Given the description of an element on the screen output the (x, y) to click on. 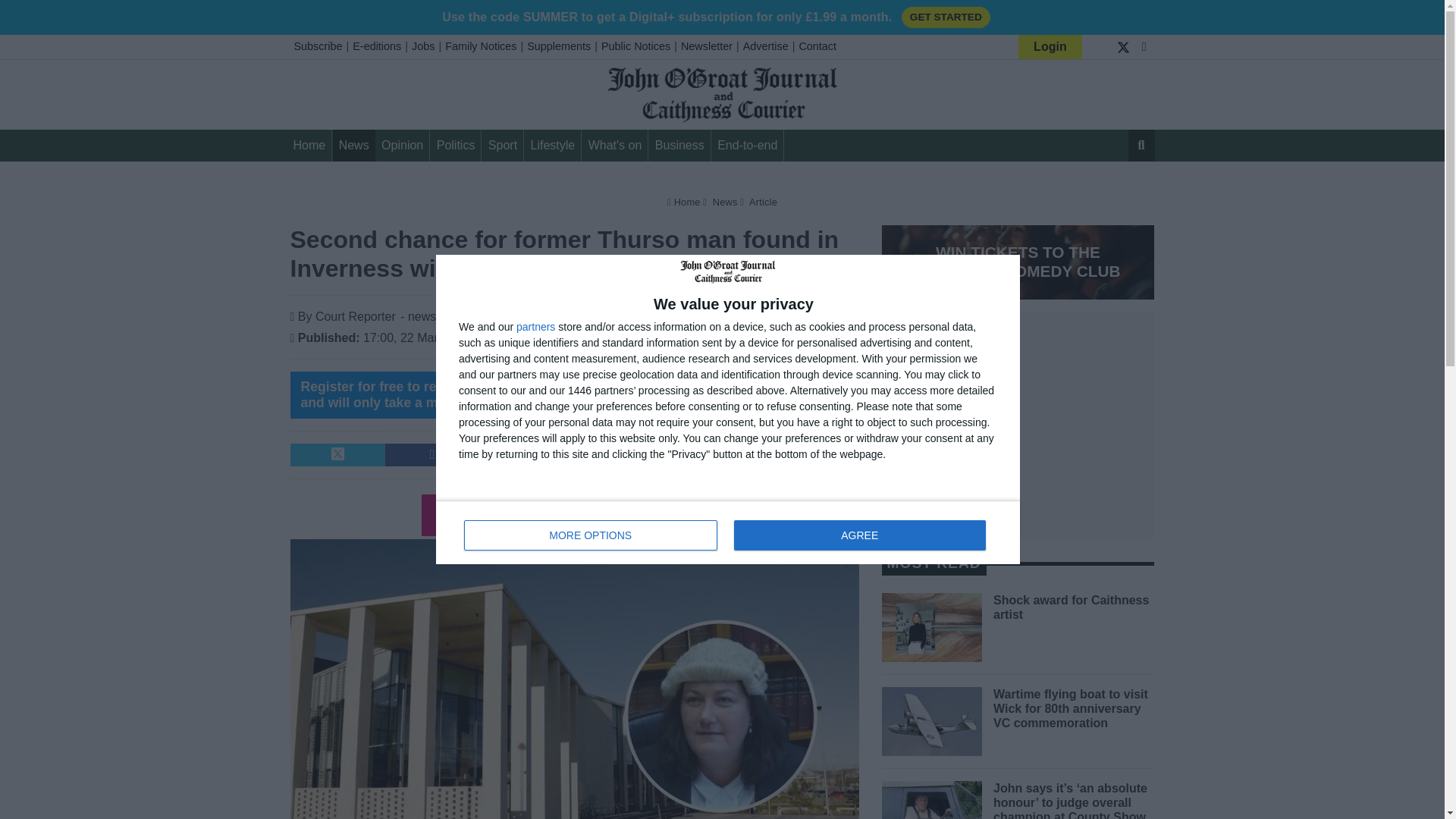
AGREE (859, 535)
MORE OPTIONS (590, 535)
partners (535, 326)
GET STARTED (945, 16)
